Given the description of an element on the screen output the (x, y) to click on. 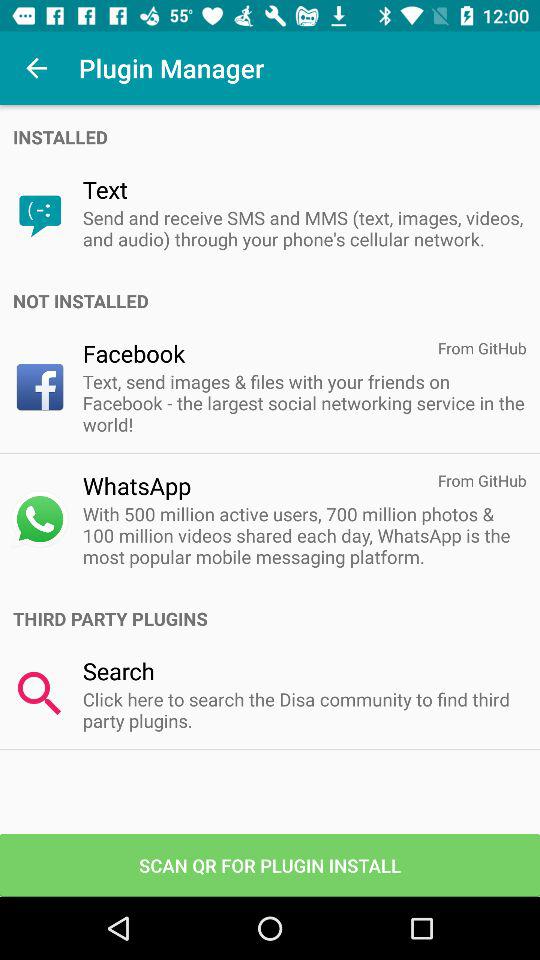
jump until scan qr for icon (270, 864)
